Given the description of an element on the screen output the (x, y) to click on. 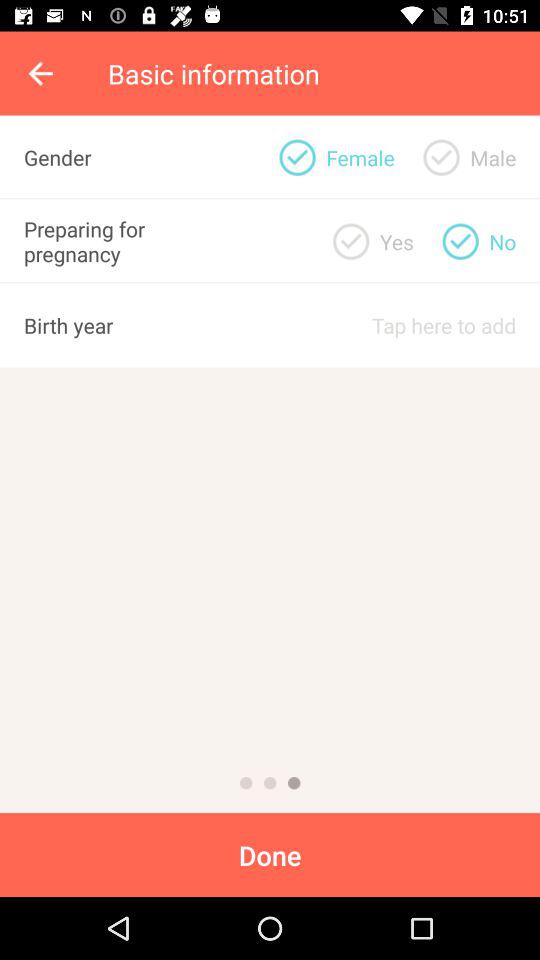
flip until the done (270, 854)
